Given the description of an element on the screen output the (x, y) to click on. 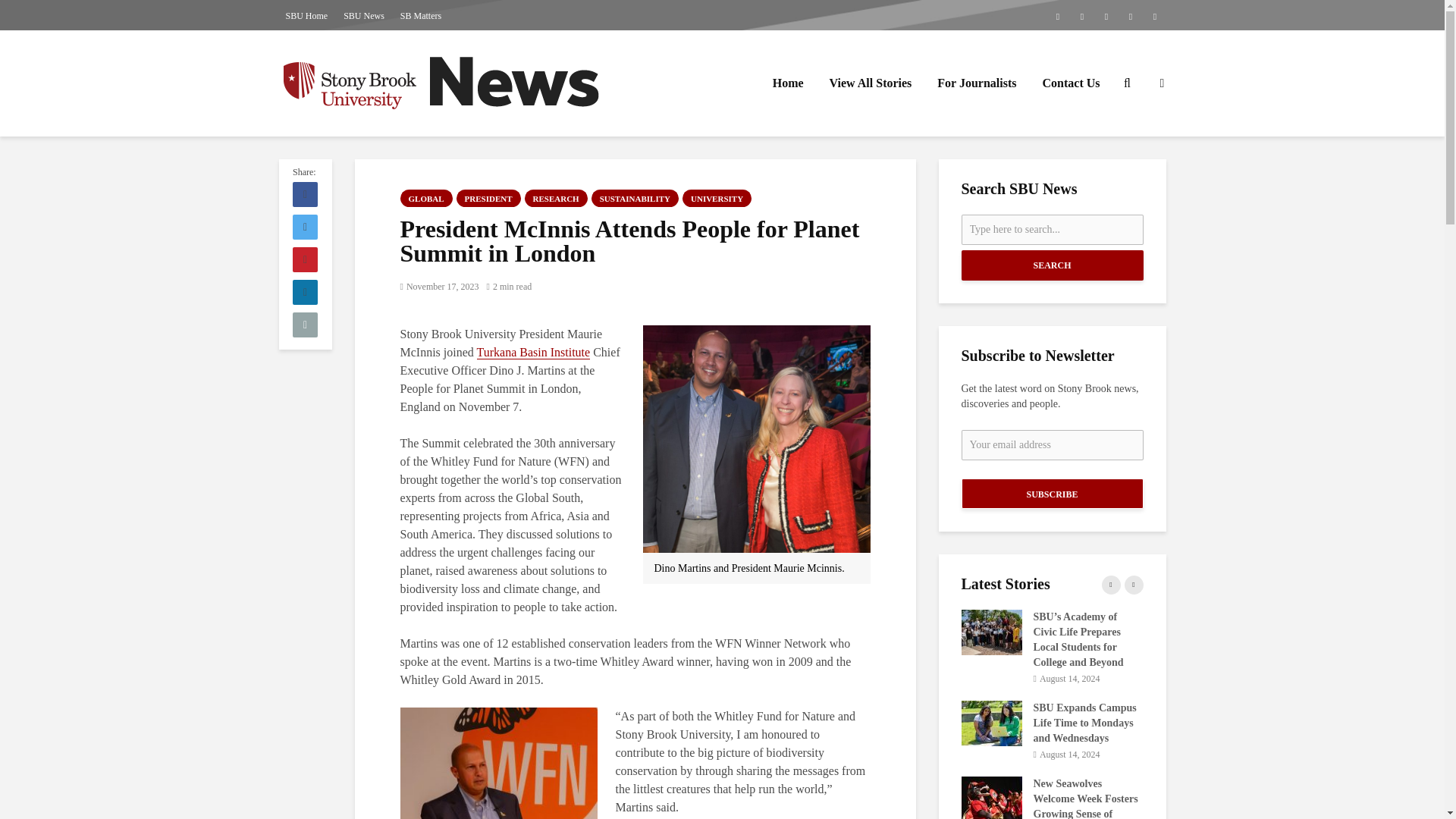
Contact Us (1071, 82)
Home (788, 82)
View All Stories (870, 82)
For Journalists (976, 82)
Wfn dino martins (498, 763)
SB Matters (420, 15)
SBU Student-Athletes Inspire LILTA Students (809, 691)
Wfn dino pres (756, 438)
SBU Home (306, 15)
